Given the description of an element on the screen output the (x, y) to click on. 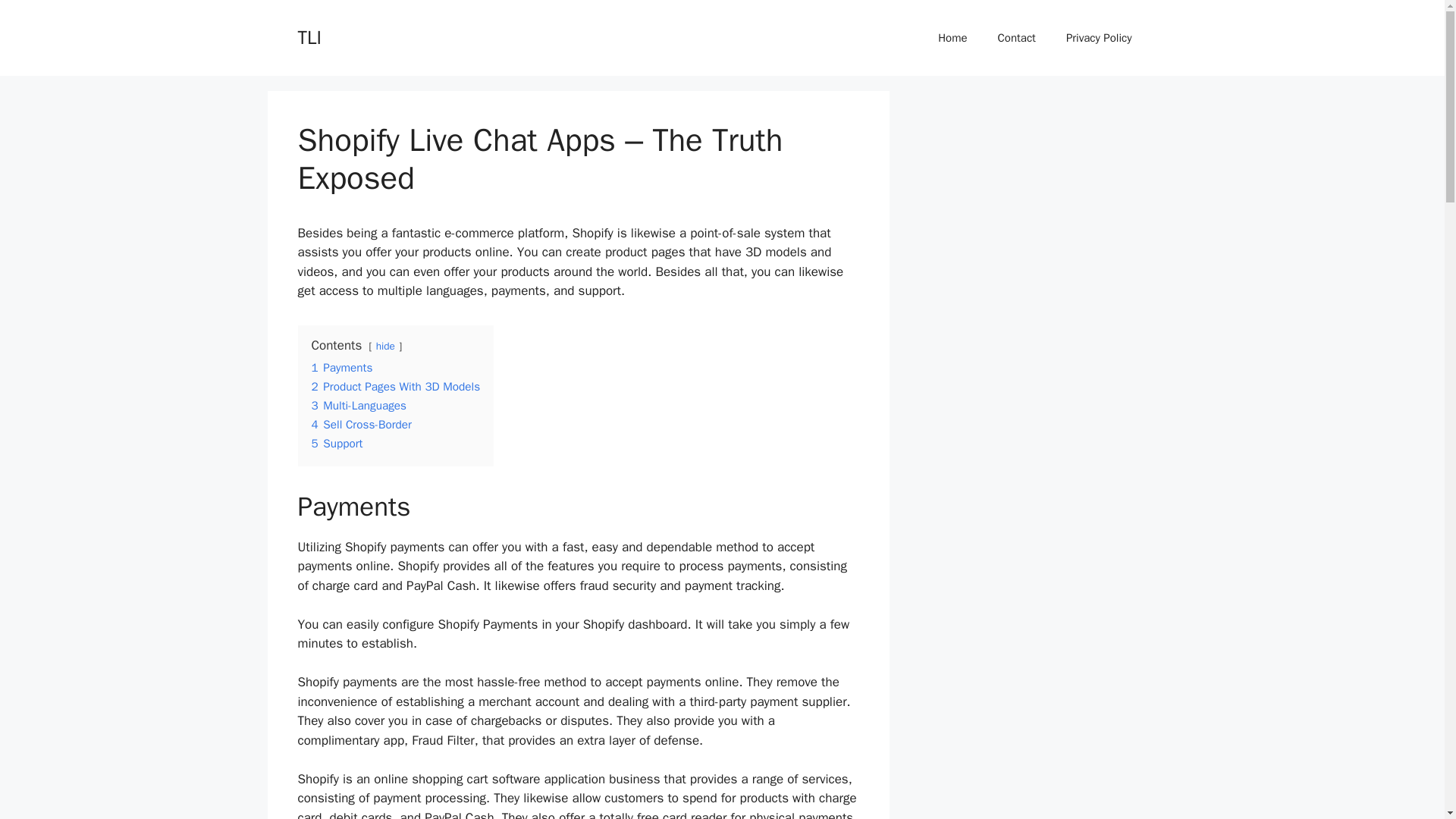
TLI (309, 37)
2 Product Pages With 3D Models (395, 386)
Contact (1016, 37)
1 Payments (341, 367)
5 Support (336, 443)
Privacy Policy (1099, 37)
Home (952, 37)
3 Multi-Languages (358, 405)
hide (384, 345)
4 Sell Cross-Border (360, 424)
